Given the description of an element on the screen output the (x, y) to click on. 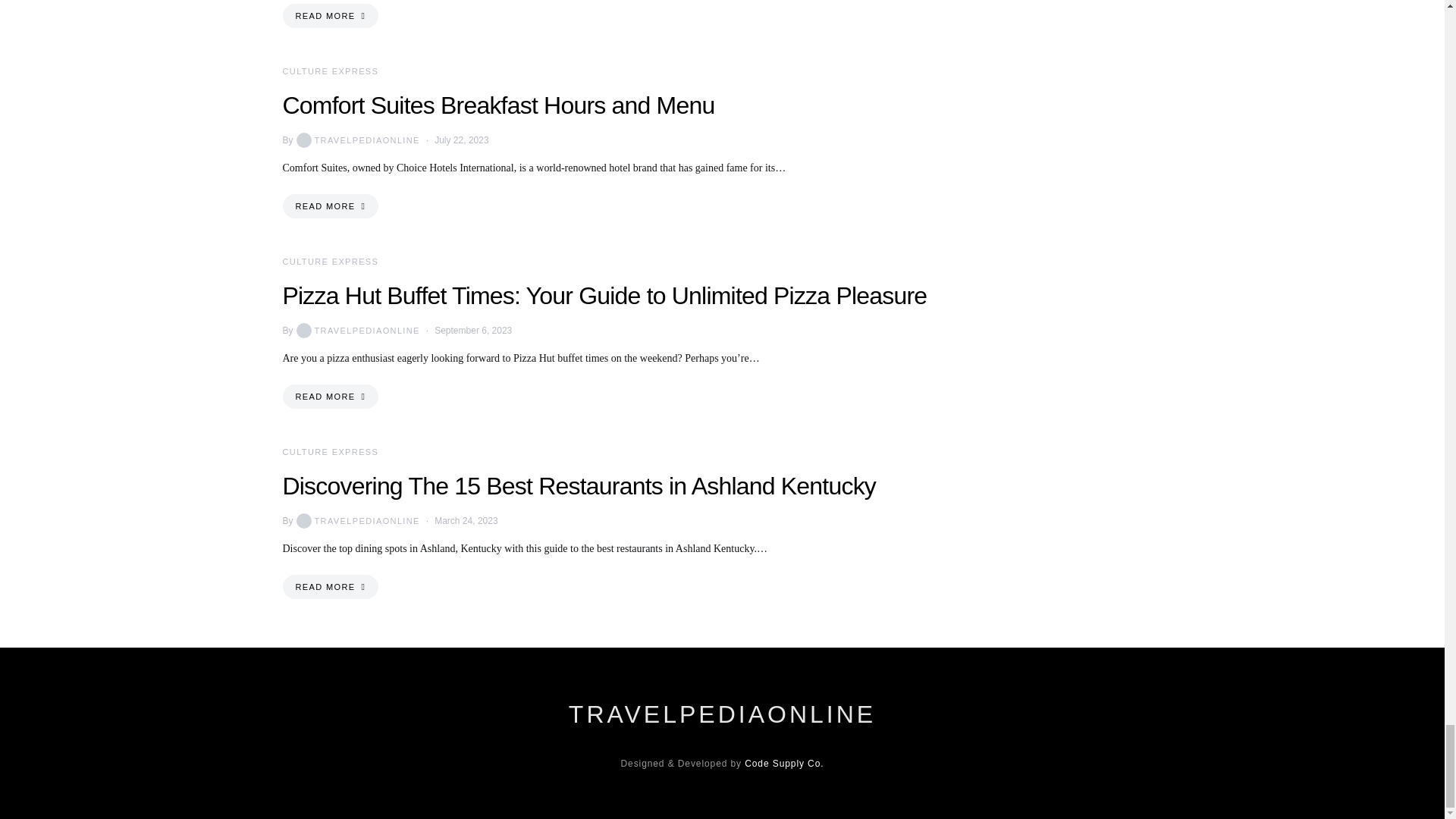
View all posts by Travelpediaonline (357, 330)
View all posts by Travelpediaonline (357, 520)
View all posts by Travelpediaonline (357, 140)
